Given the description of an element on the screen output the (x, y) to click on. 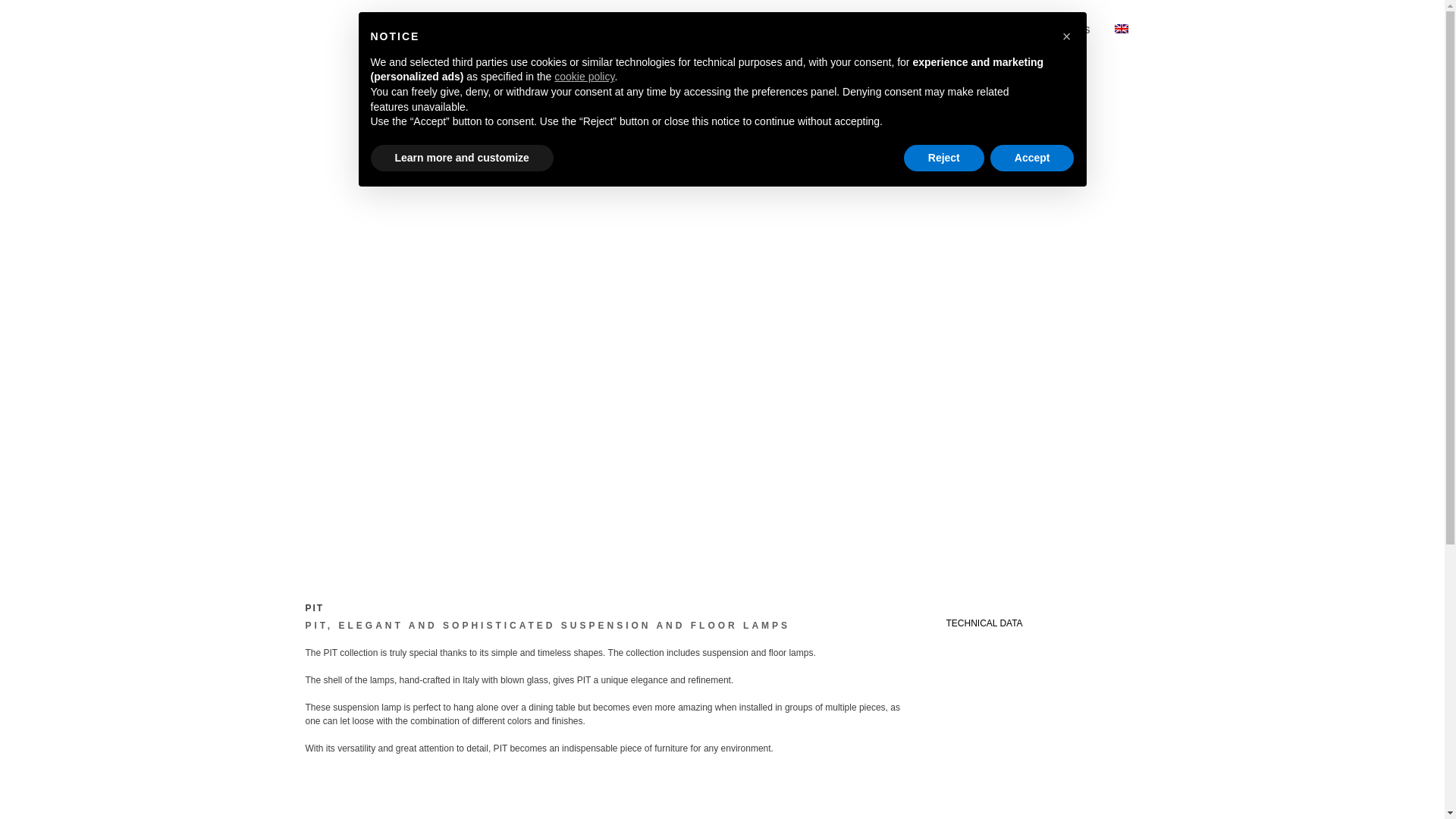
HOME (555, 30)
COMPANY (622, 30)
PRODUCTS (705, 30)
Products (705, 30)
Home (555, 30)
